Given the description of an element on the screen output the (x, y) to click on. 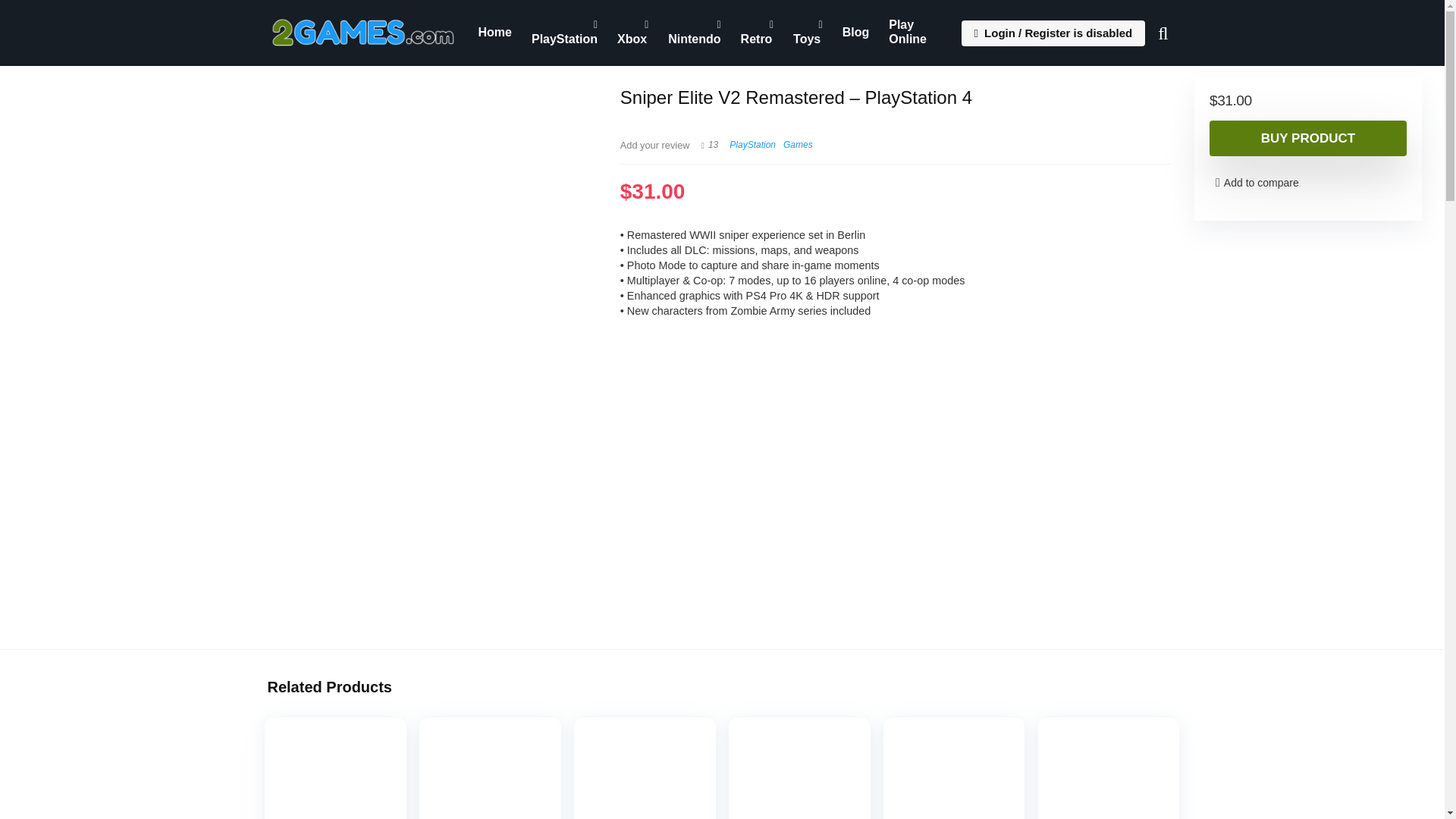
Games (797, 144)
Xbox (632, 32)
Retro (756, 32)
Home (494, 32)
PlayStation (564, 32)
Blog (855, 32)
PlayStation (752, 144)
View all posts in Games (797, 144)
Play Online (916, 32)
Add your review (655, 144)
View all posts in PlayStation (752, 144)
Nintendo (694, 32)
Toys (807, 32)
